Given the description of an element on the screen output the (x, y) to click on. 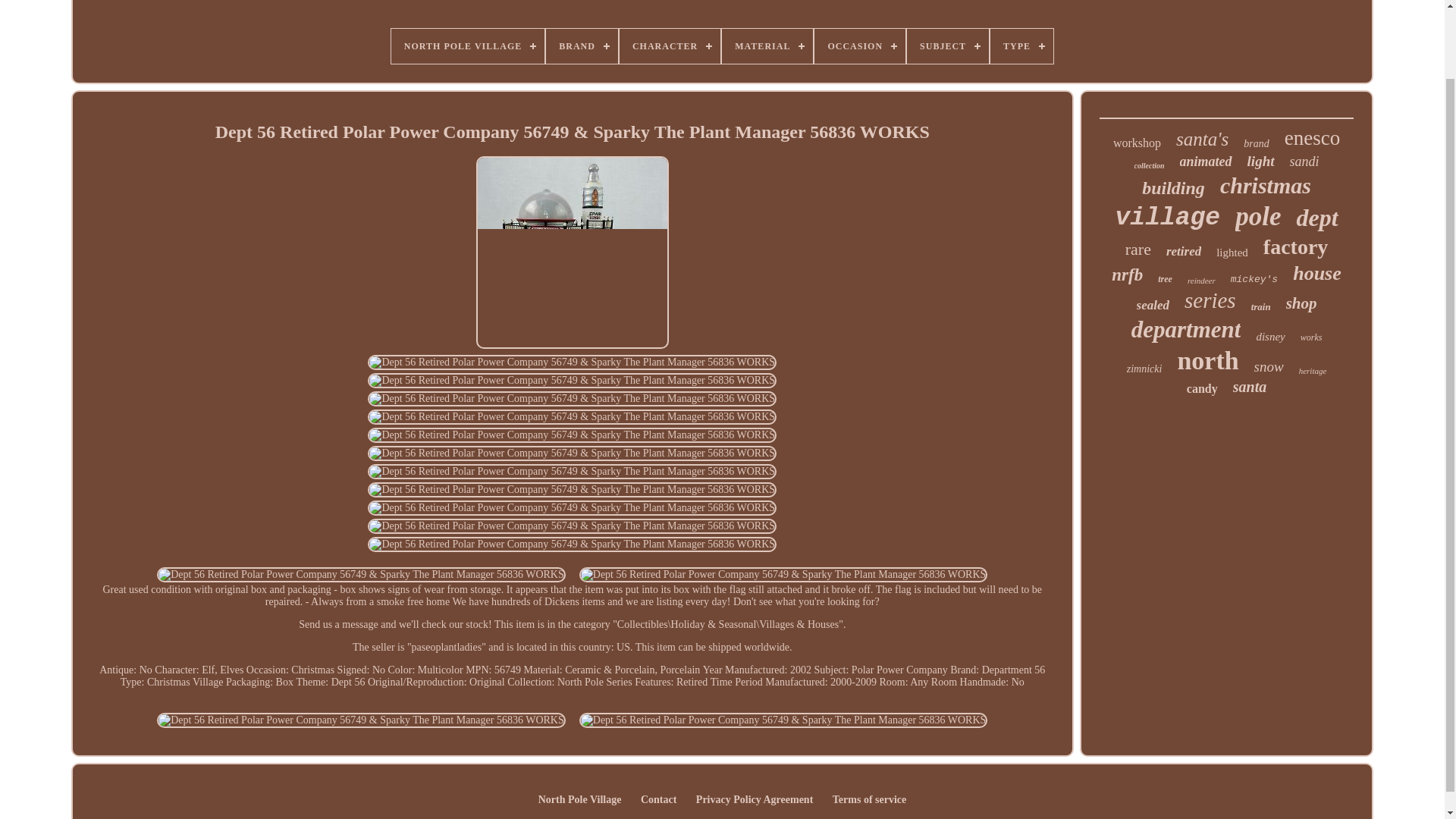
NORTH POLE VILLAGE (467, 45)
CHARACTER (670, 45)
BRAND (581, 45)
